Given the description of an element on the screen output the (x, y) to click on. 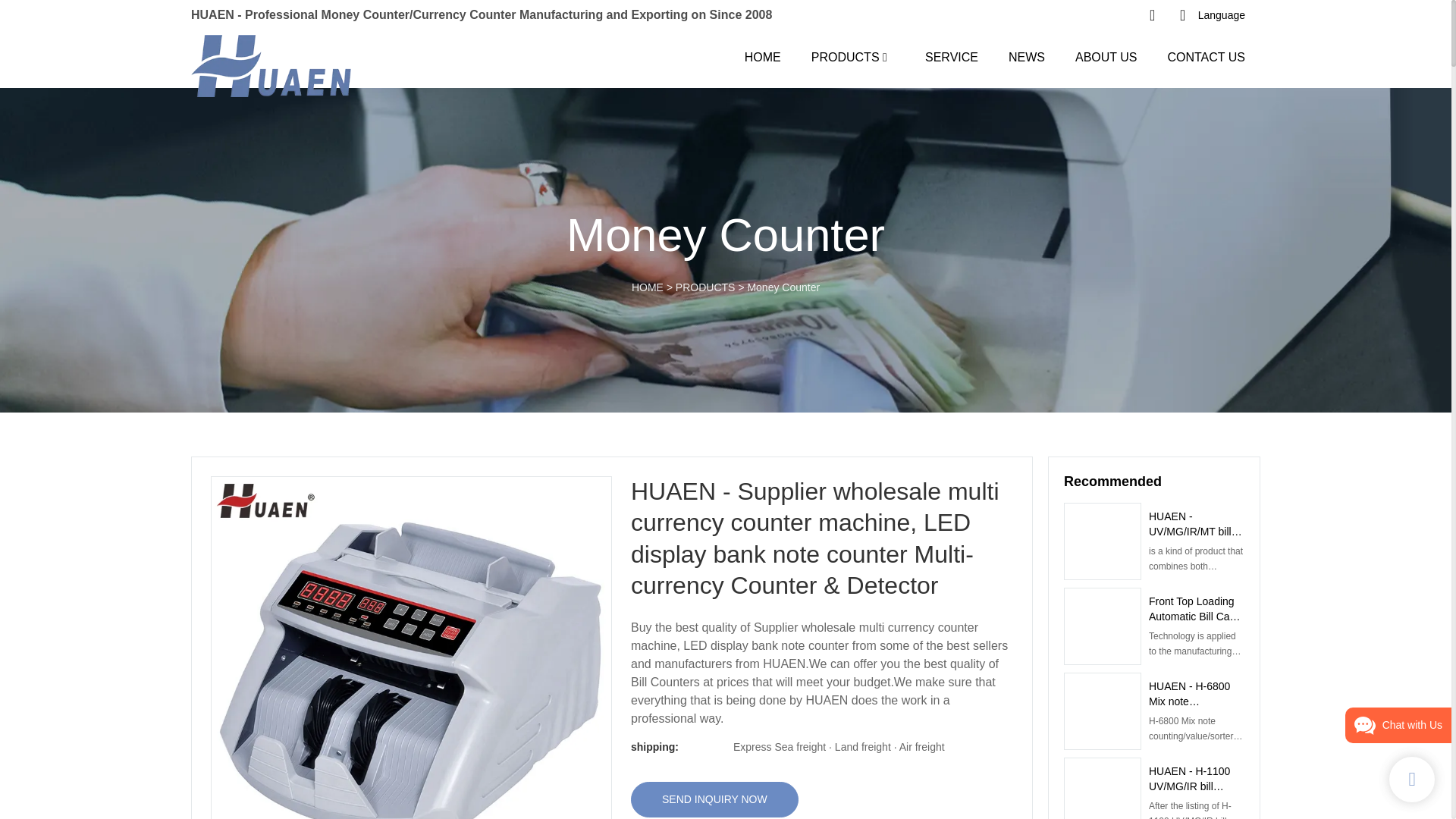
NEWS (1027, 56)
CONTACT US (1205, 56)
HOME (762, 56)
Money Counter (782, 287)
ABOUT US (1106, 56)
PRODUCTS (844, 56)
PRODUCTS (705, 287)
